Given the description of an element on the screen output the (x, y) to click on. 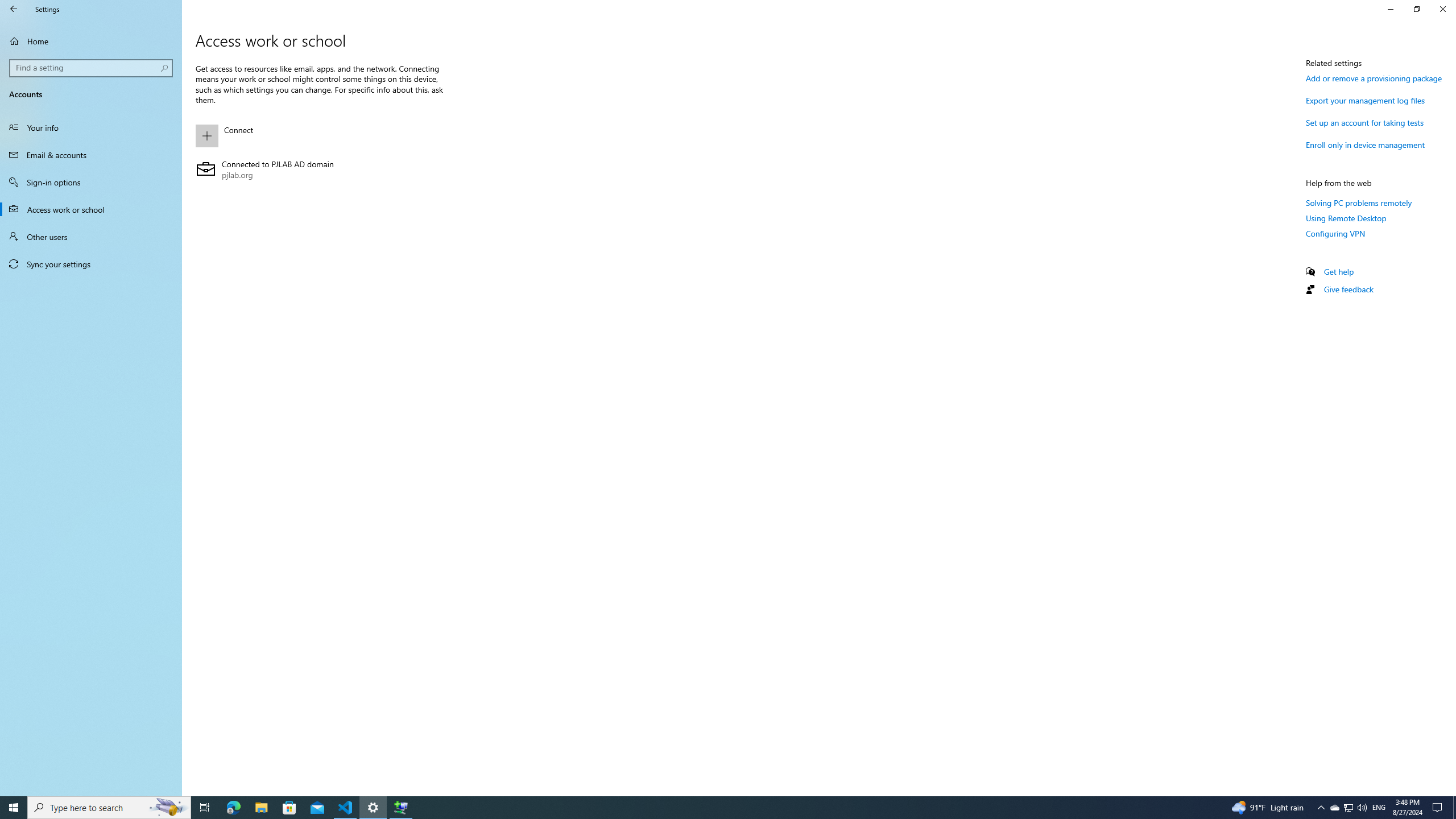
Set up an account for taking tests (1364, 122)
Email & accounts (91, 154)
Home (91, 40)
Sign-in options (91, 181)
Give feedback (1348, 289)
Close Settings (1442, 9)
Enroll only in device management (1365, 144)
Extensible Wizards Host Process - 1 running window (400, 807)
Solving PC problems remotely (1359, 202)
Export your management log files (1365, 100)
